Given the description of an element on the screen output the (x, y) to click on. 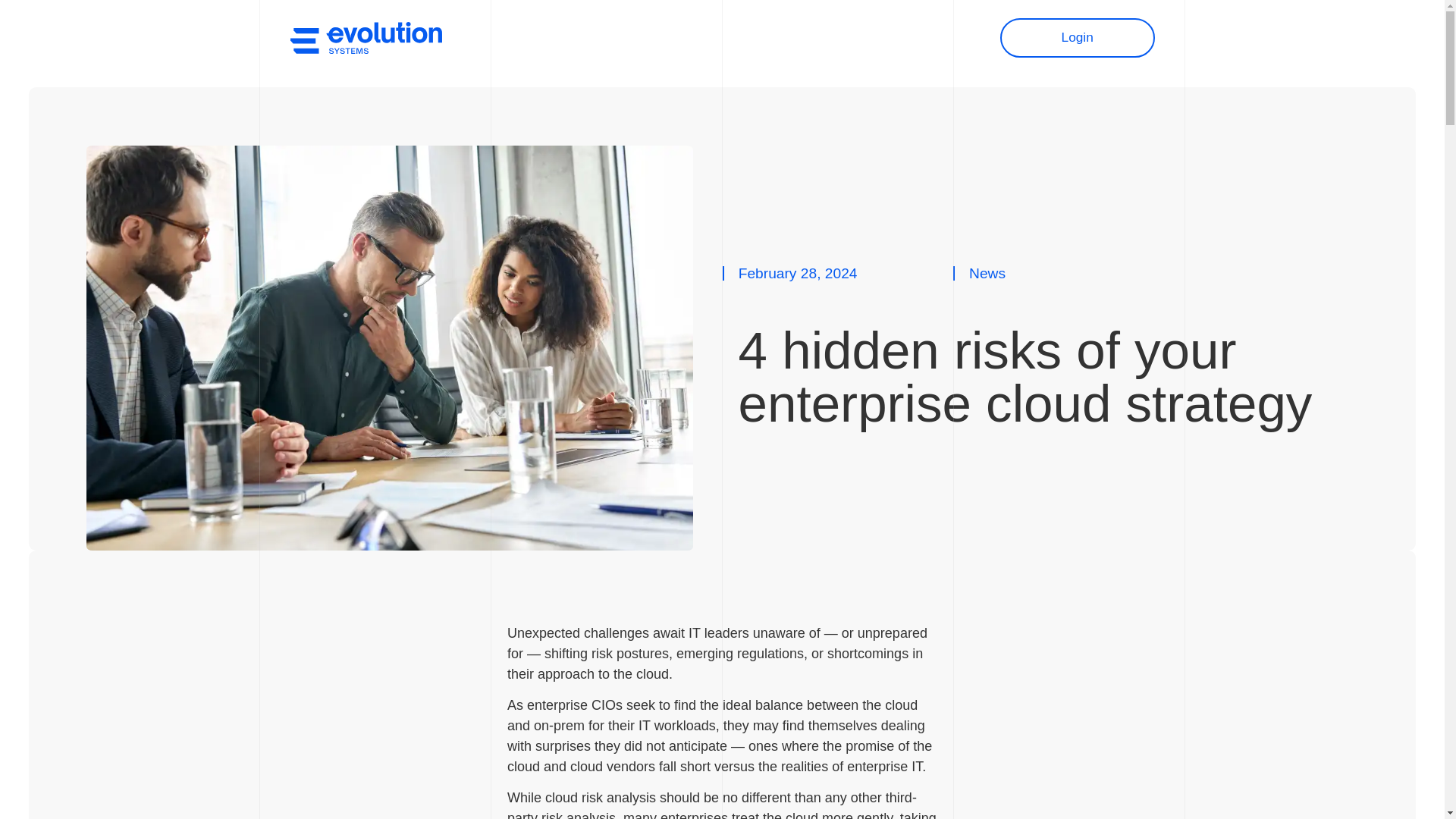
About (644, 37)
News (756, 37)
Learn (805, 37)
Careers (700, 37)
Login (1077, 37)
Contact (861, 37)
